Given the description of an element on the screen output the (x, y) to click on. 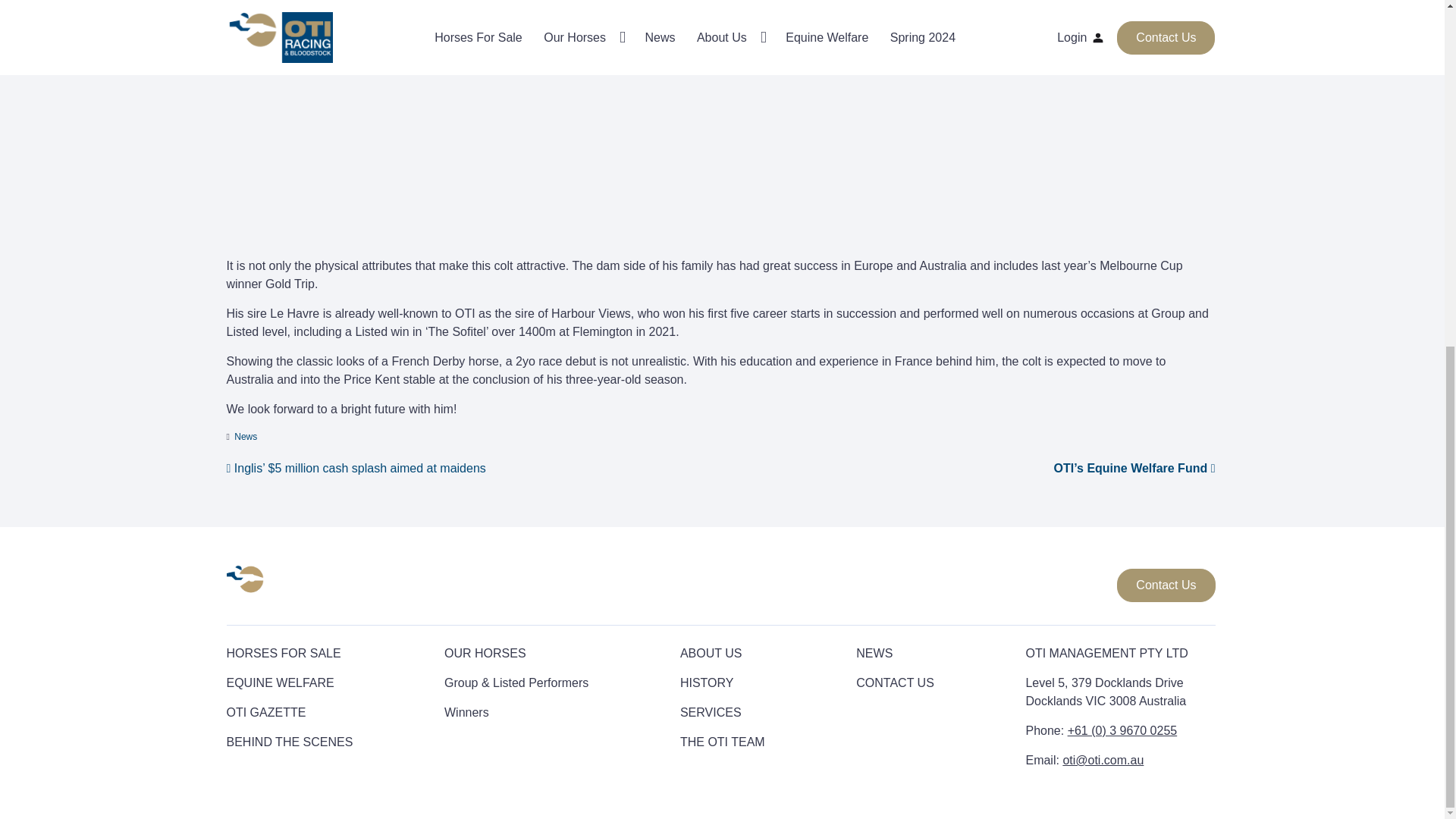
Winners (466, 712)
HORSES FOR SALE (282, 653)
NEWS (874, 653)
News (245, 436)
EQUINE WELFARE (279, 682)
ABOUT US (710, 653)
OTI GAZETTE (265, 712)
HISTORY (706, 682)
SERVICES (710, 712)
BEHIND THE SCENES (288, 741)
